Given the description of an element on the screen output the (x, y) to click on. 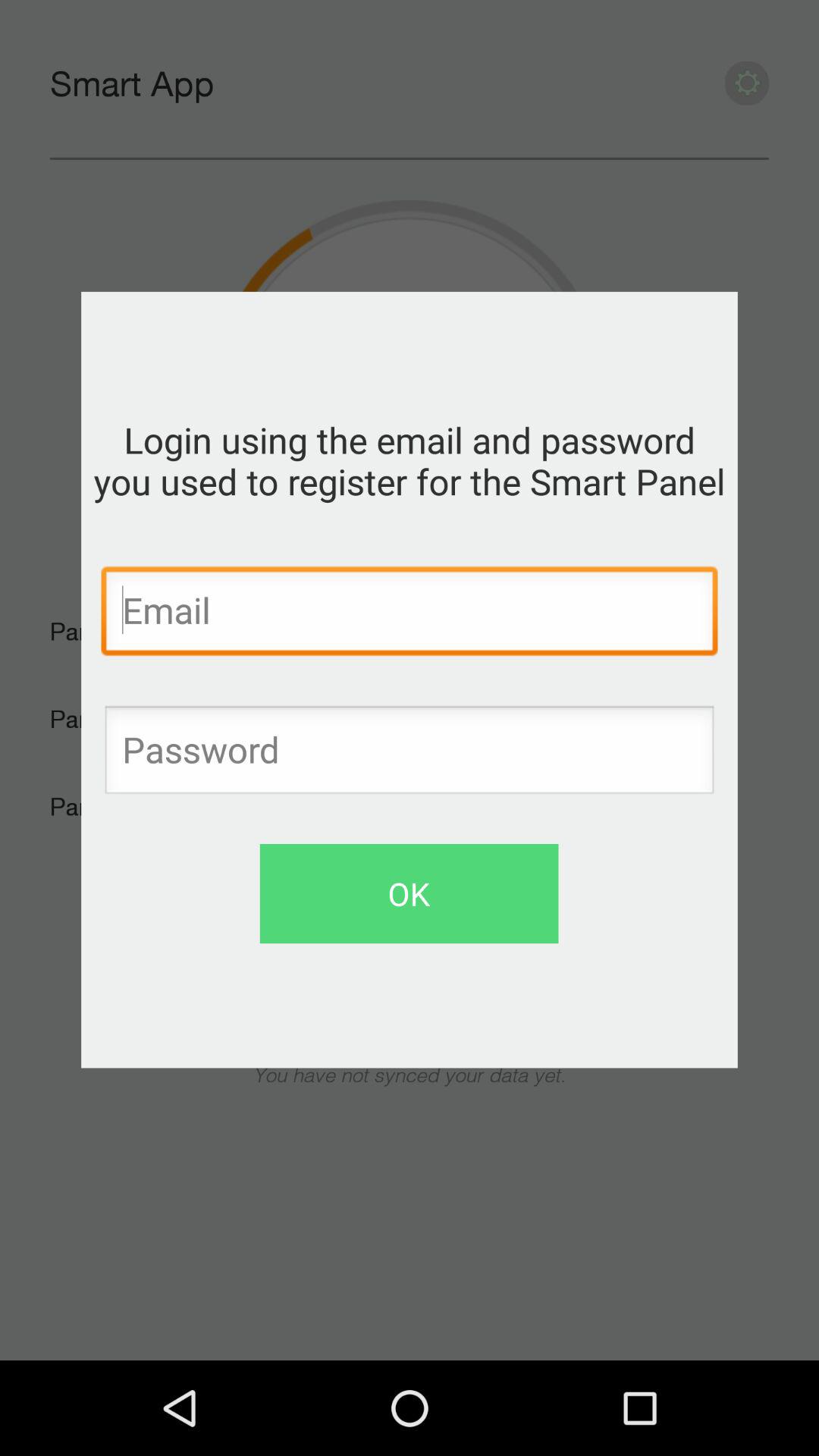
turn off the ok icon (408, 893)
